Given the description of an element on the screen output the (x, y) to click on. 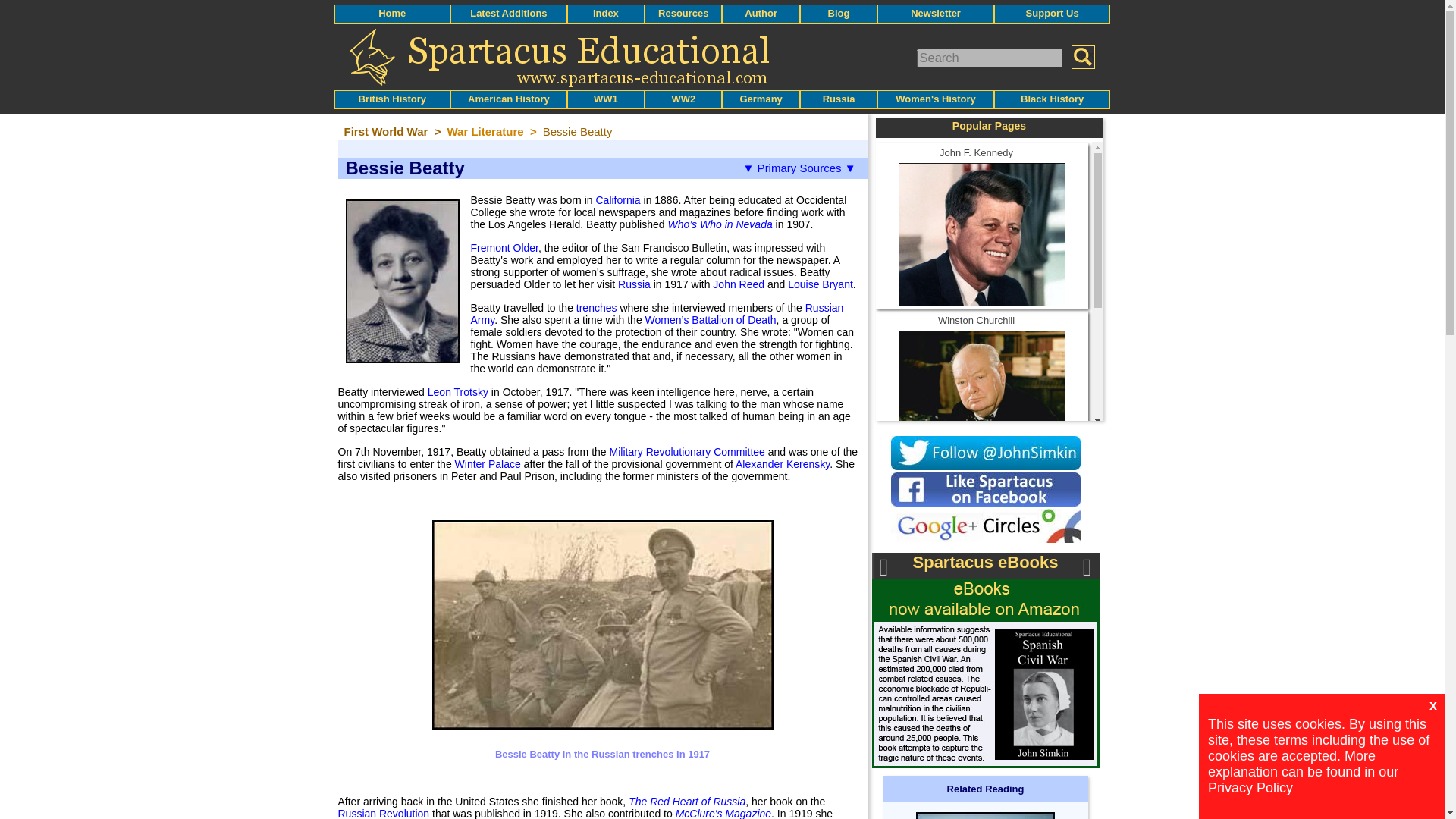
Russia (839, 98)
Germany (760, 98)
Home (392, 12)
American History (508, 98)
WW2 (683, 98)
trenches (596, 307)
Alexander Kerensky (782, 463)
Russia (633, 284)
Women's History (935, 98)
Author (760, 12)
Blog (839, 12)
Russian Army (656, 313)
Winter Palace (487, 463)
John Reed (738, 284)
Military Revolutionary Committee (687, 451)
